Given the description of an element on the screen output the (x, y) to click on. 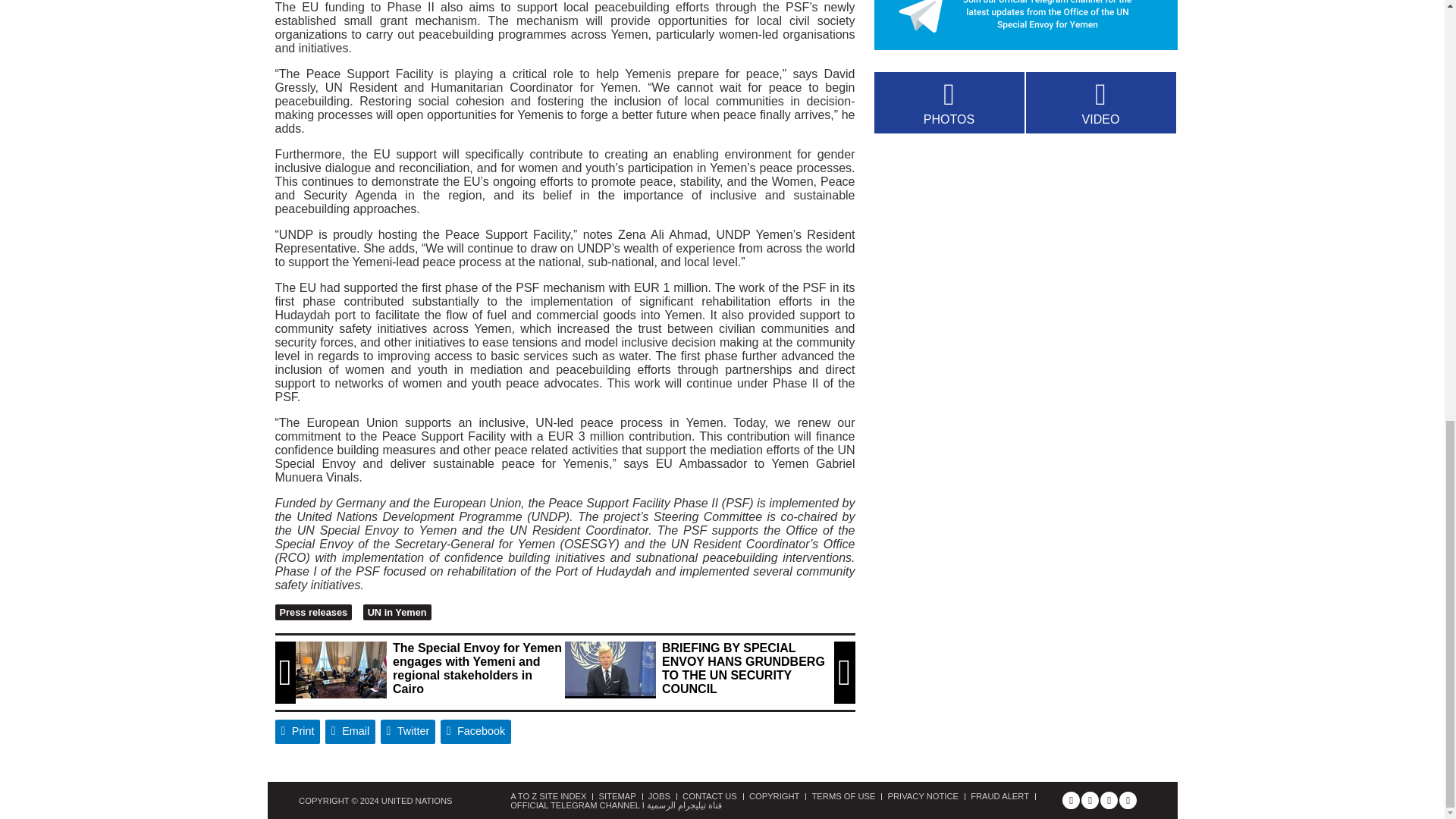
Facebook (476, 731)
Print (297, 731)
Email (349, 731)
Twitter (407, 731)
